Given the description of an element on the screen output the (x, y) to click on. 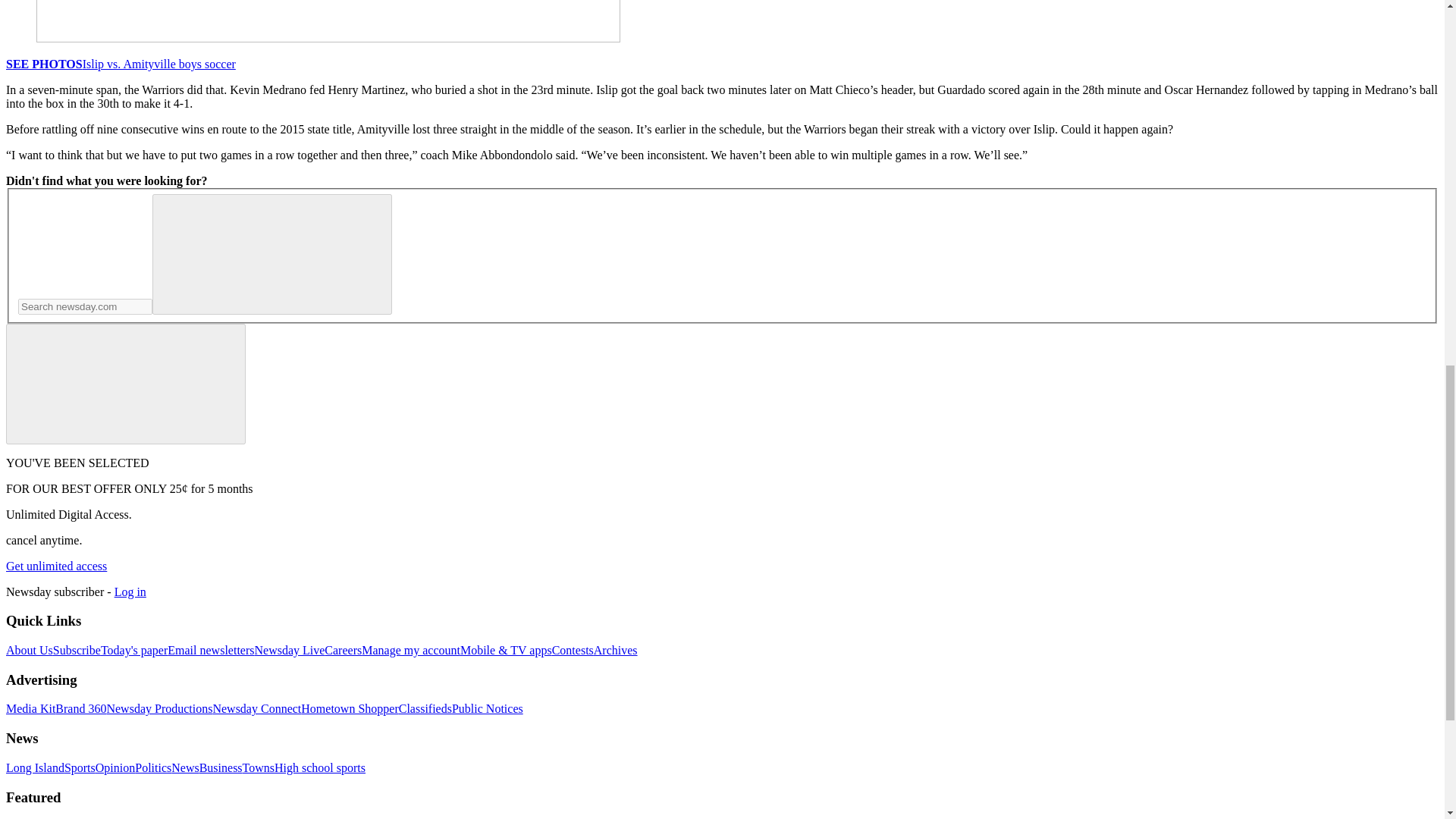
Newsday Live (288, 649)
Subscribe (76, 649)
Search (271, 254)
Email newsletters (210, 649)
About Us (28, 649)
Today's paper (133, 649)
Get unlimited access (55, 565)
Log in (131, 591)
